Given the description of an element on the screen output the (x, y) to click on. 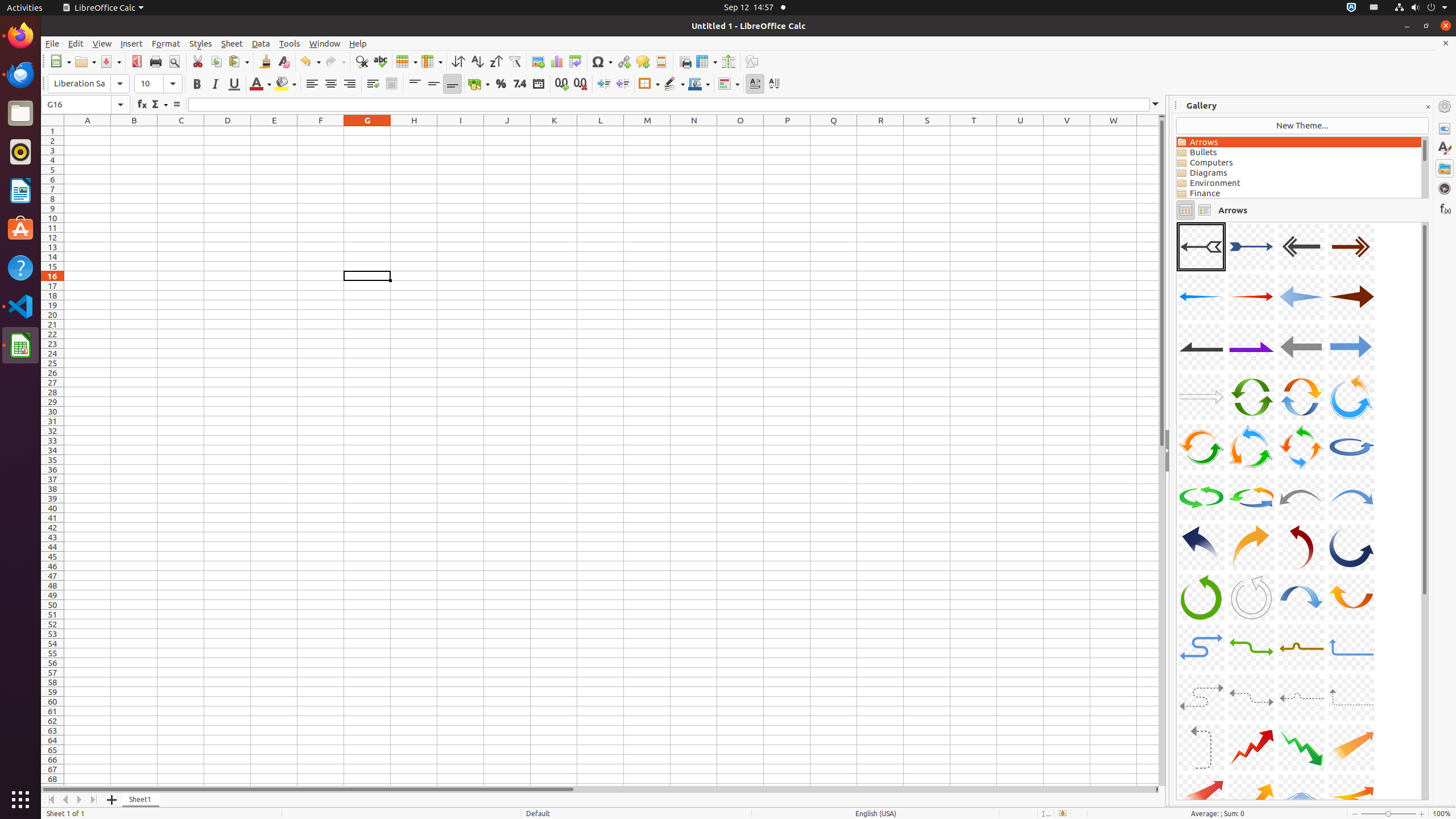
Background Color Element type: push-button (285, 83)
Pivot Table Element type: push-button (574, 61)
A11-Arrow-Gray-Left Element type: list-item (1300, 346)
Sheet Sheet1 Element type: table (611, 456)
A05-Arrow-Blue-Left Element type: list-item (1200, 296)
